Given the description of an element on the screen output the (x, y) to click on. 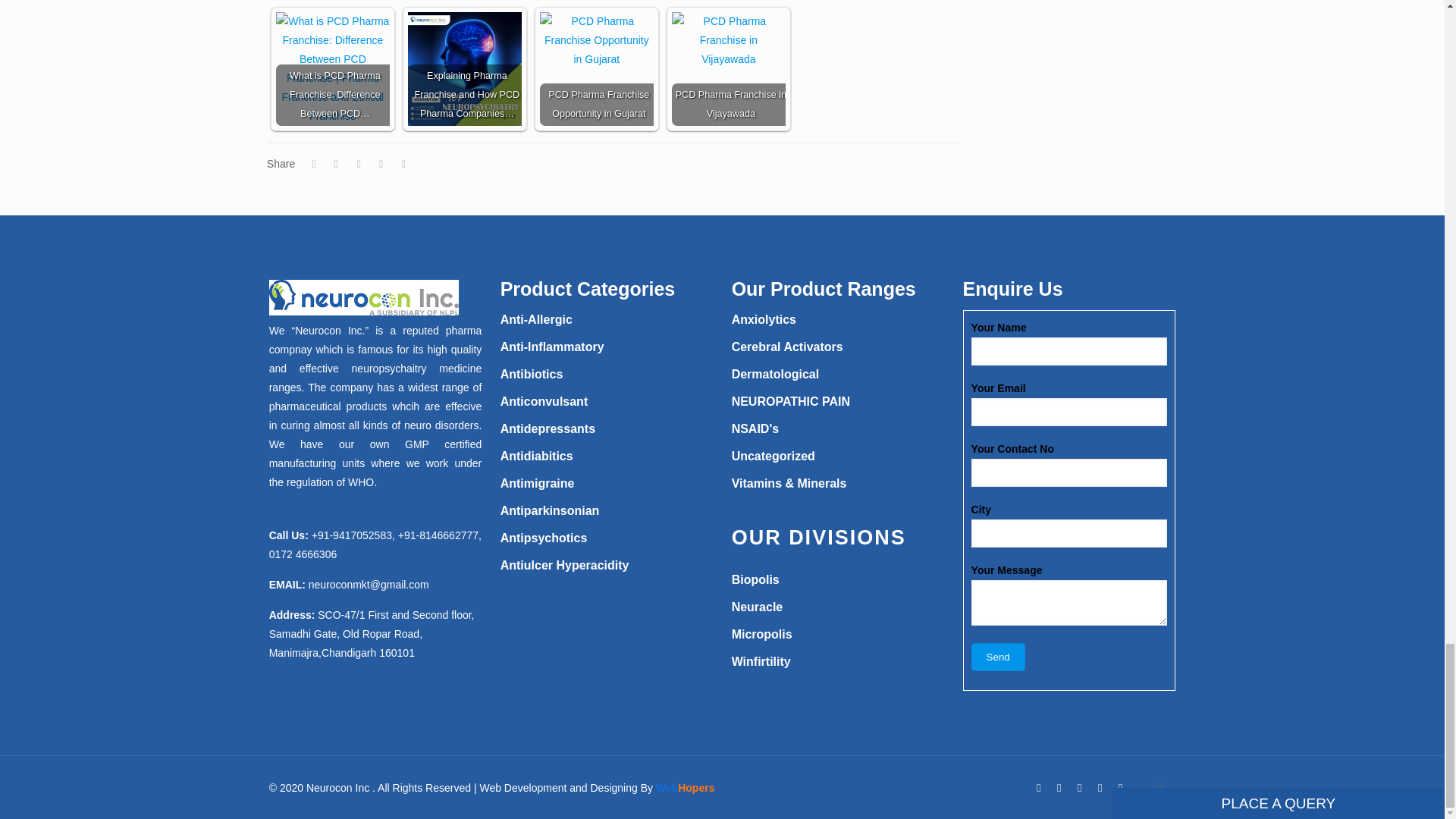
Twitter (1059, 787)
Pinterest (1100, 787)
Instagram (1120, 787)
PCD Pharma Franchise Opportunity in Gujarat (596, 40)
LinkedIn (1079, 787)
Facebook (1038, 787)
Send (998, 656)
PCD Pharma Franchise in Vijayawada (728, 40)
